Given the description of an element on the screen output the (x, y) to click on. 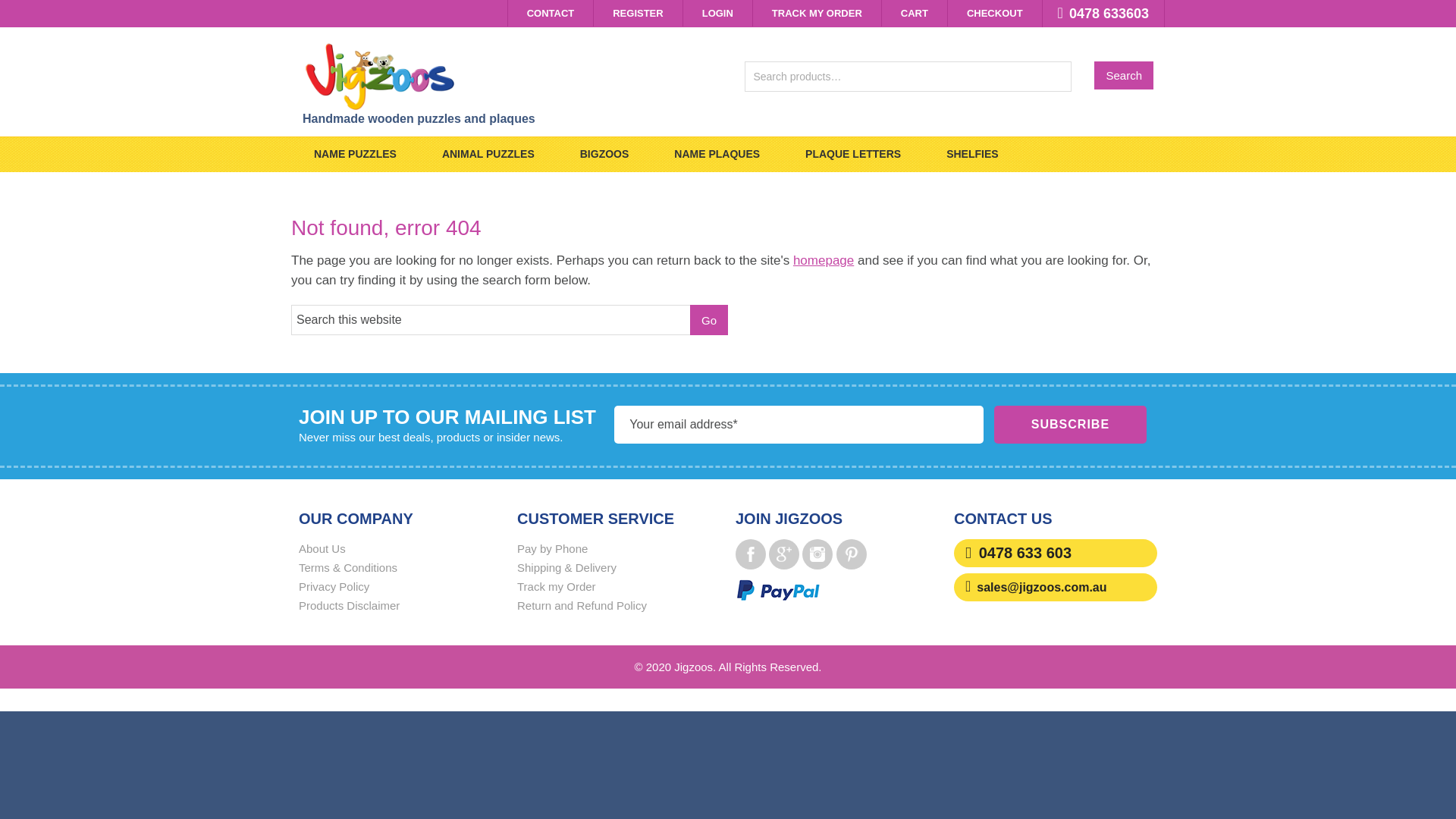
LOGIN Element type: text (717, 13)
PLAQUE LETTERS Element type: text (852, 154)
Go Element type: text (709, 319)
Return and Refund Policy Element type: text (581, 605)
BIGZOOS Element type: text (604, 154)
Track my Order Element type: text (556, 586)
  Element type: text (750, 554)
0478 633603 Element type: text (1103, 13)
Privacy Policy Element type: text (333, 586)
Products Disclaimer Element type: text (348, 605)
REGISTER Element type: text (637, 13)
homepage Element type: text (823, 260)
Pay by Phone Element type: text (552, 548)
JIGZOOS Element type: text (506, 75)
Terms & Conditions Element type: text (347, 567)
sales@jigzoos.com.au Element type: text (1041, 586)
  Element type: text (851, 554)
NAME PLAQUES Element type: text (716, 154)
Shipping & Delivery Element type: text (566, 567)
TRACK MY ORDER Element type: text (817, 13)
  Element type: text (783, 554)
Search Element type: text (1123, 75)
About Us Element type: text (321, 548)
  Element type: text (817, 554)
CONTACT Element type: text (550, 13)
0478 633 603 Element type: text (1025, 552)
CART Element type: text (914, 13)
Subscribe Element type: text (1069, 424)
ANIMAL PUZZLES Element type: text (488, 154)
SHELFIES Element type: text (971, 154)
NAME PUZZLES Element type: text (355, 154)
CHECKOUT Element type: text (994, 13)
